Given the description of an element on the screen output the (x, y) to click on. 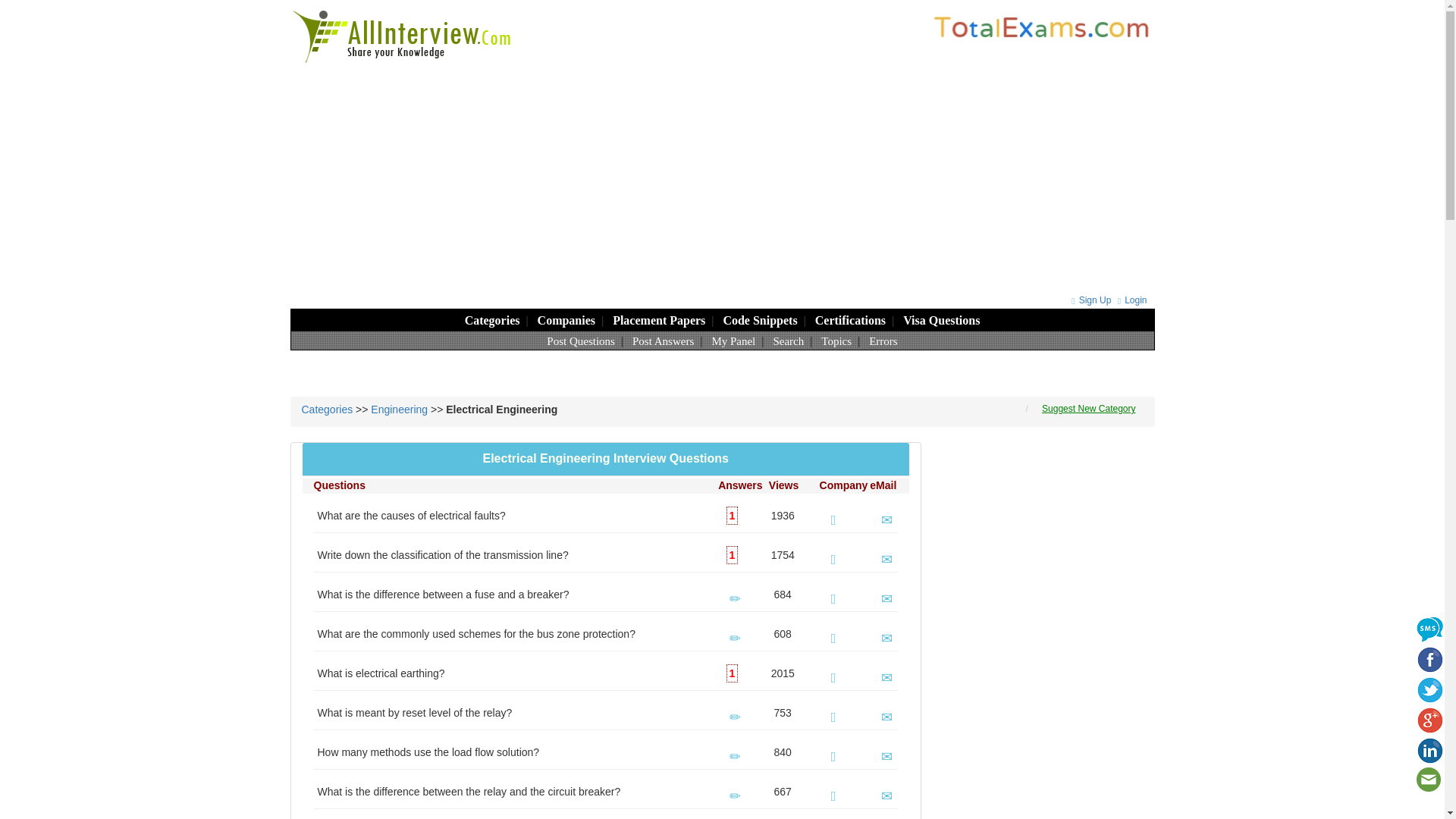
E-Mail New Answers (886, 520)
Categories (491, 319)
Login into your Panel, to view your performance (733, 340)
Post New Answer (734, 598)
Placement Papers (658, 319)
Topics -- Provides Information in Depth (836, 340)
Post Answers (662, 340)
Questions by Company Wise (566, 319)
Sign Up (1088, 299)
